Given the description of an element on the screen output the (x, y) to click on. 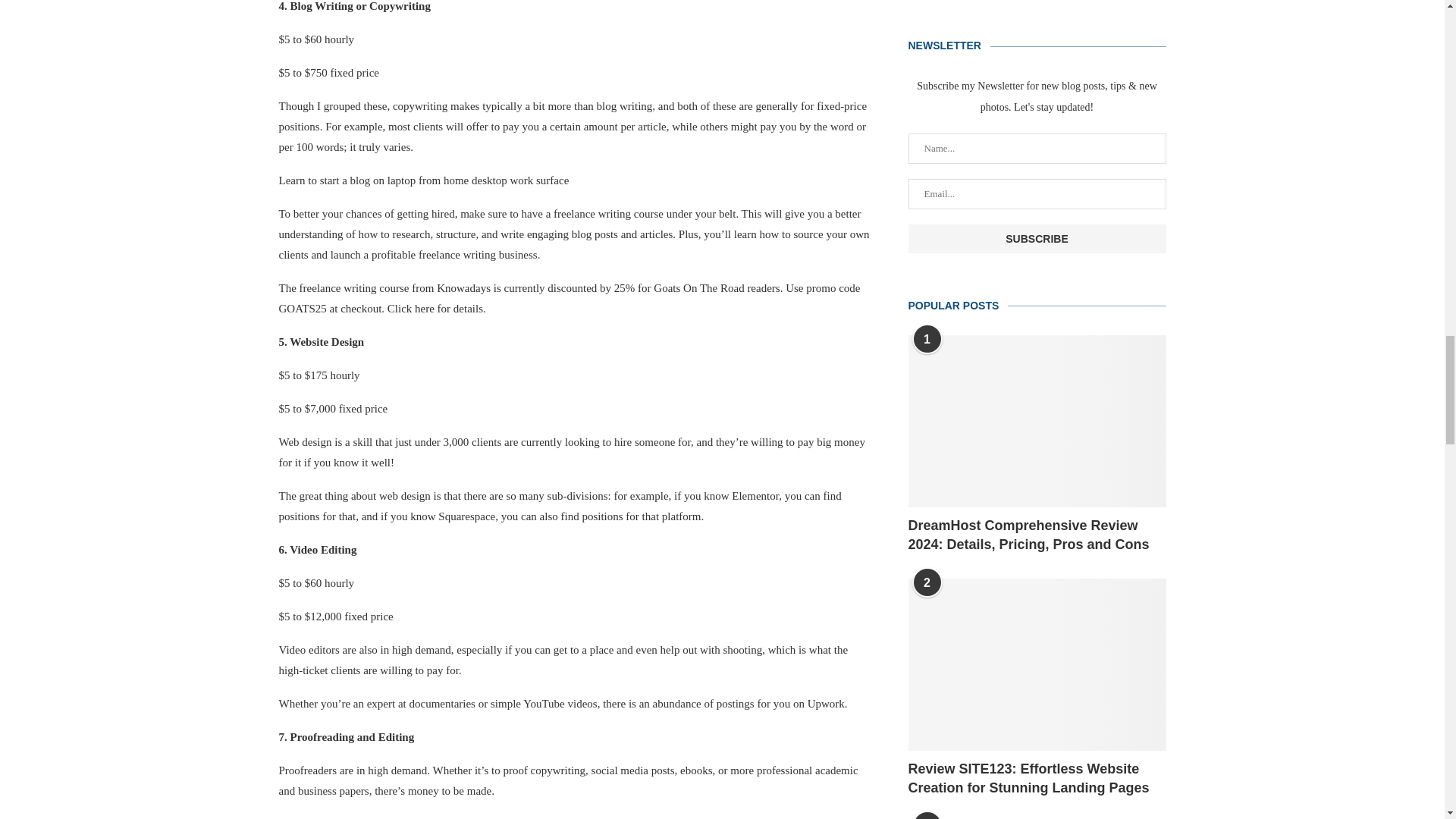
Subscribe (1037, 238)
